Given the description of an element on the screen output the (x, y) to click on. 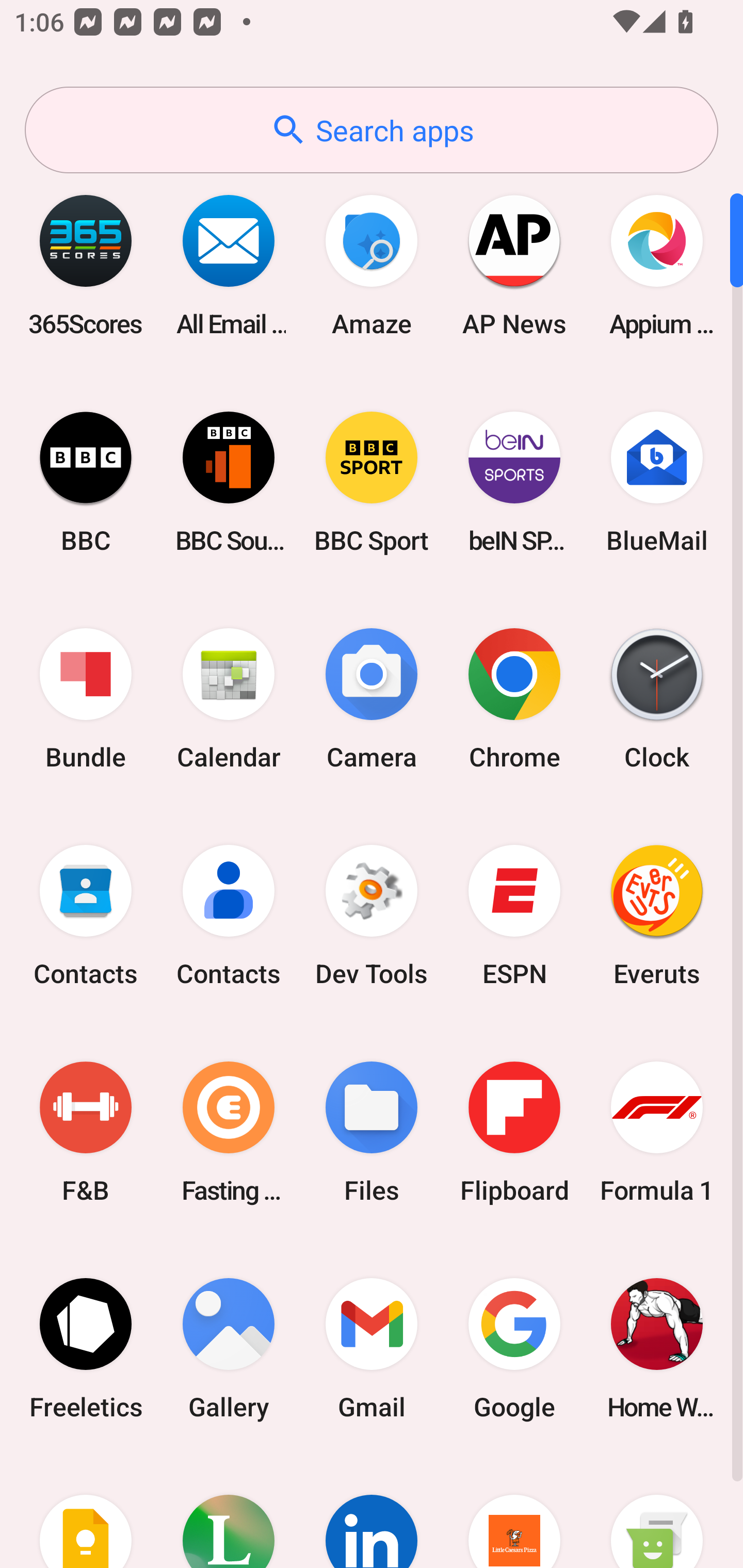
  Search apps (371, 130)
365Scores (85, 264)
All Email Connect (228, 264)
Amaze (371, 264)
AP News (514, 264)
Appium Settings (656, 264)
BBC (85, 482)
BBC Sounds (228, 482)
BBC Sport (371, 482)
beIN SPORTS (514, 482)
BlueMail (656, 482)
Bundle (85, 699)
Calendar (228, 699)
Camera (371, 699)
Chrome (514, 699)
Clock (656, 699)
Contacts (85, 915)
Contacts (228, 915)
Dev Tools (371, 915)
ESPN (514, 915)
Everuts (656, 915)
F&B (85, 1131)
Fasting Coach (228, 1131)
Files (371, 1131)
Flipboard (514, 1131)
Formula 1 (656, 1131)
Freeletics (85, 1348)
Gallery (228, 1348)
Gmail (371, 1348)
Google (514, 1348)
Home Workout (656, 1348)
Keep Notes (85, 1512)
Lifesum (228, 1512)
LinkedIn (371, 1512)
Little Caesars Pizza (514, 1512)
Messaging (656, 1512)
